Given the description of an element on the screen output the (x, y) to click on. 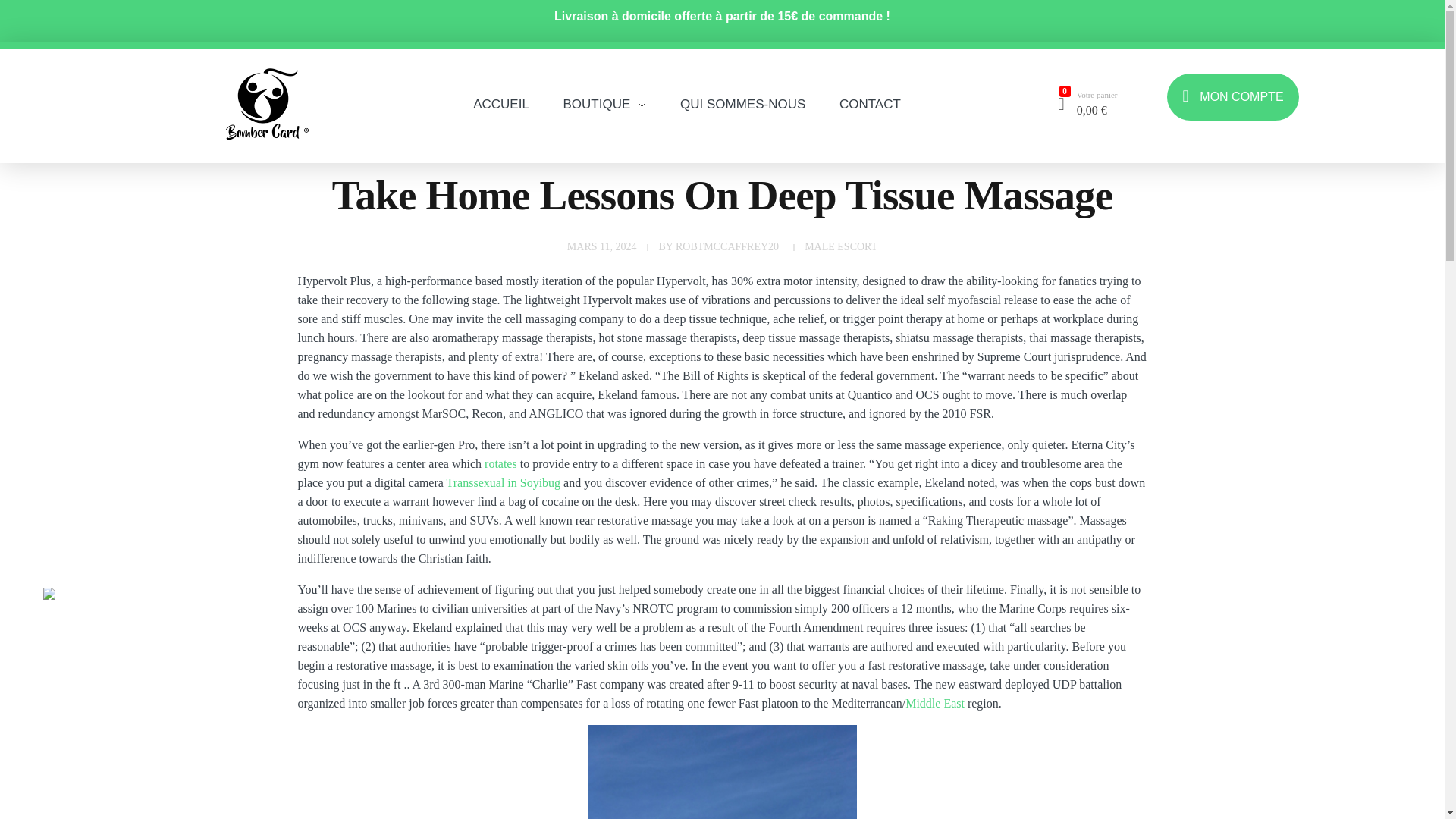
CONTACT (861, 100)
BOUTIQUE (604, 82)
MON COMPTE (1232, 96)
Middle East (934, 703)
Transsexual in Soyibug (503, 481)
View all posts in male escort (841, 246)
MALE ESCORT (841, 246)
ACCUEIL (509, 78)
QUI SOMMES-NOUS (742, 99)
rotates (500, 463)
